Given the description of an element on the screen output the (x, y) to click on. 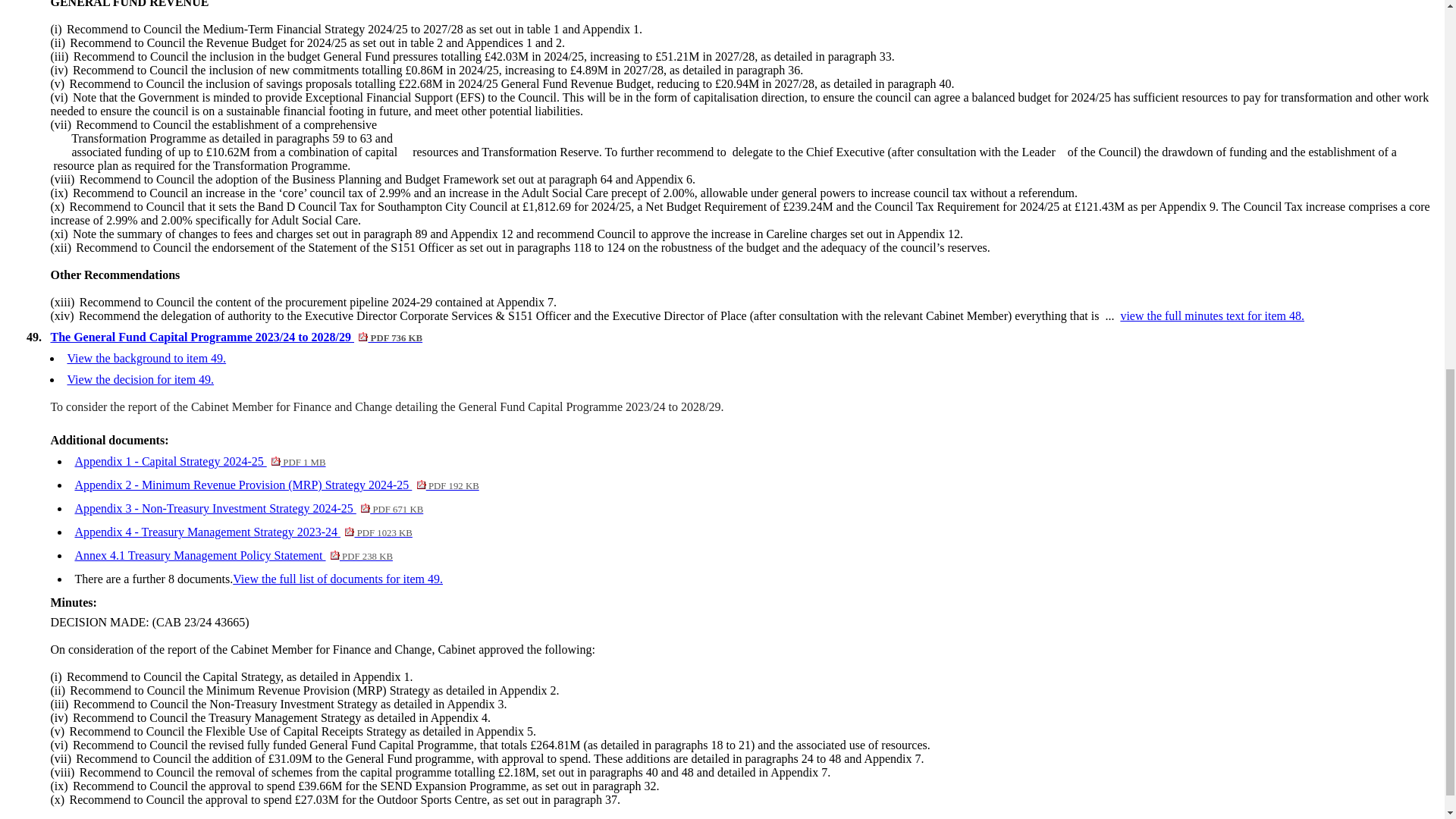
View the full list of documents for item 49. (233, 554)
View the decision for item 49. (337, 578)
Link to decision details for  item 49. (140, 379)
View the background to item 49. (199, 461)
Link to issue details for  item 49. (140, 379)
